Given the description of an element on the screen output the (x, y) to click on. 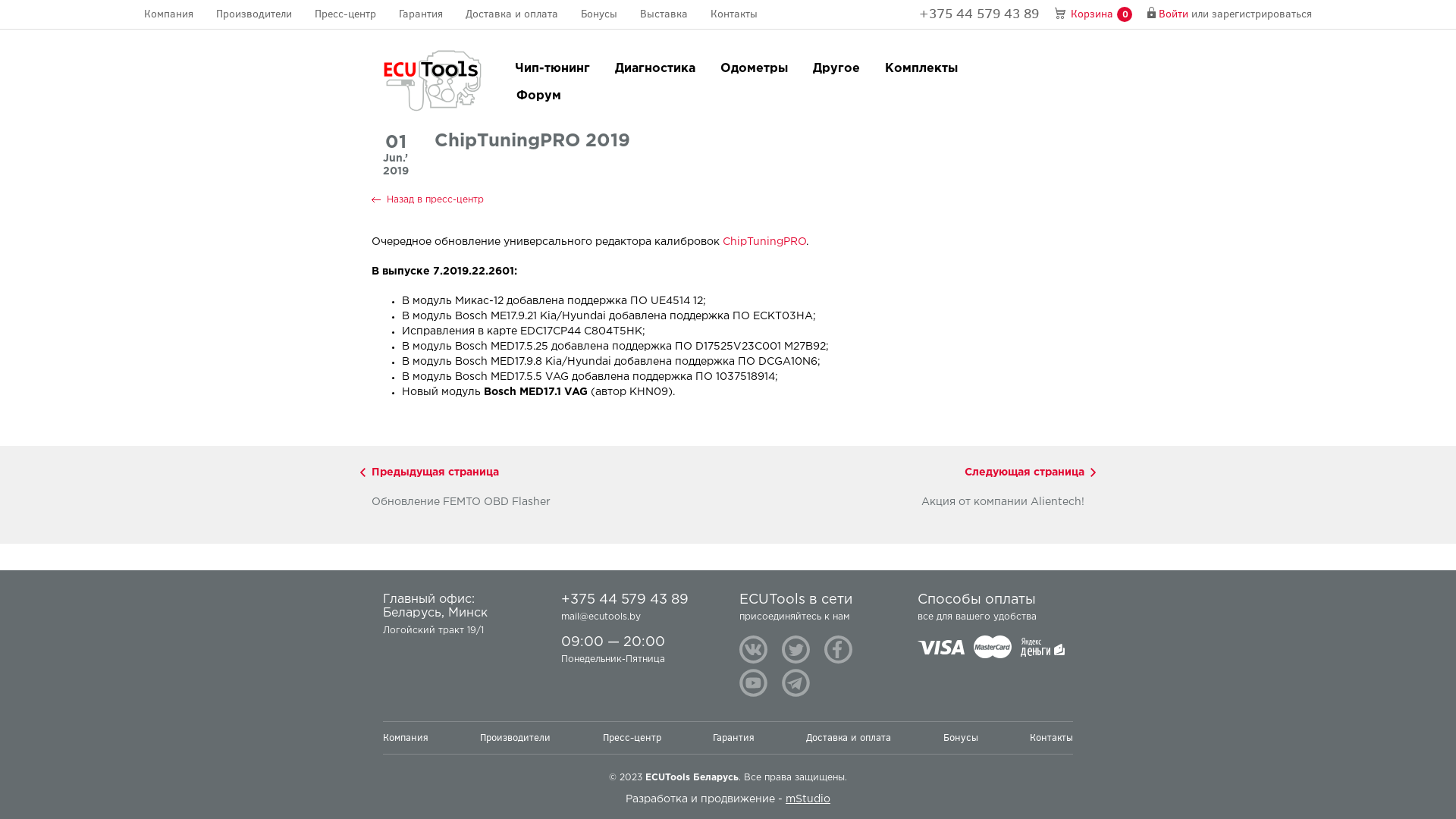
mStudio Element type: text (807, 798)
ChipTuningPRO Element type: text (764, 241)
+375 44 579 43 89 Element type: text (638, 588)
+375 44 579 43 89 Element type: text (979, 14)
mail@ecutools.by Element type: text (600, 617)
